Given the description of an element on the screen output the (x, y) to click on. 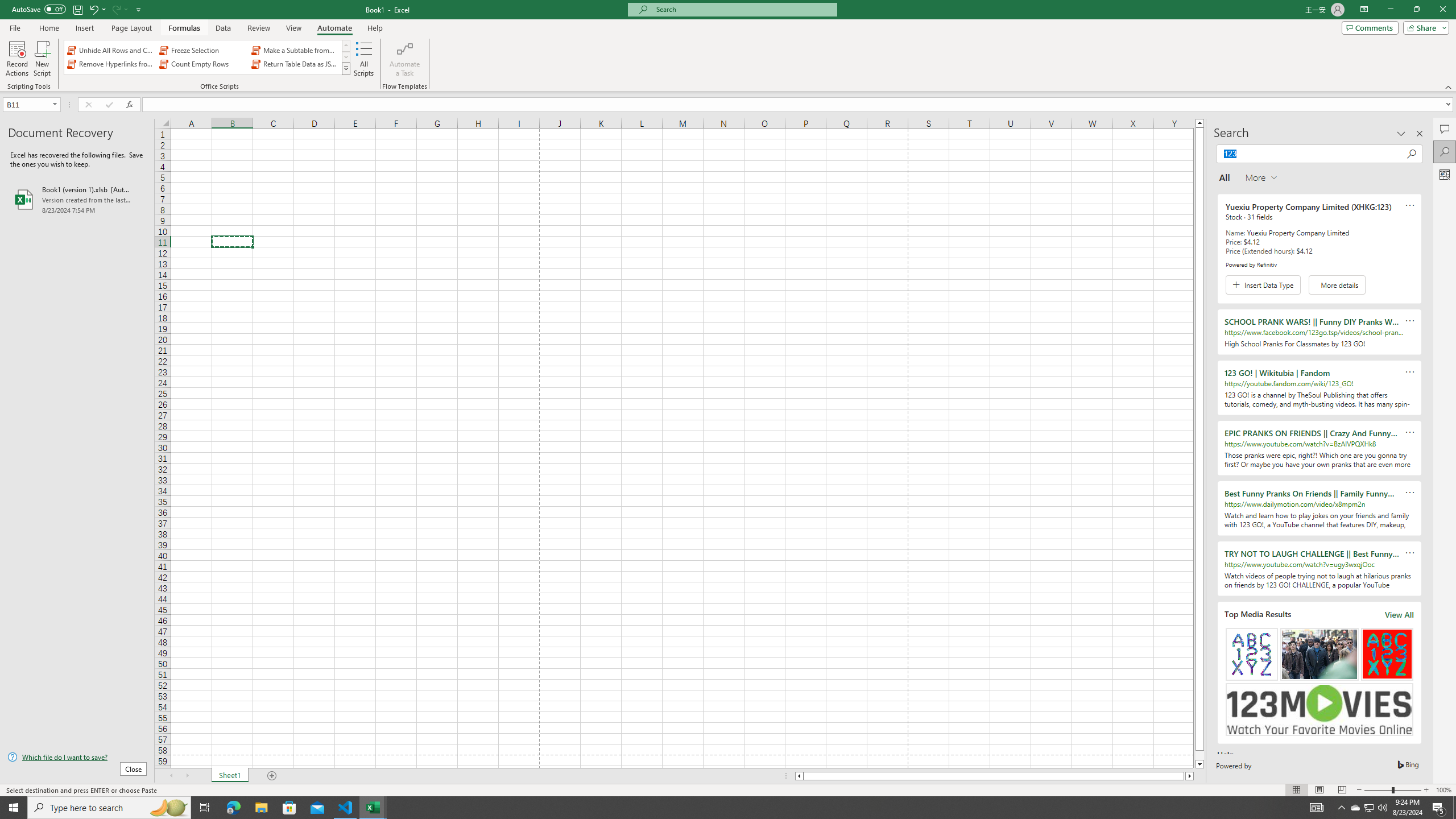
Office Scripts (346, 68)
AutomationID: OfficeScriptsGallery (207, 57)
Automate a Task (404, 58)
